Given the description of an element on the screen output the (x, y) to click on. 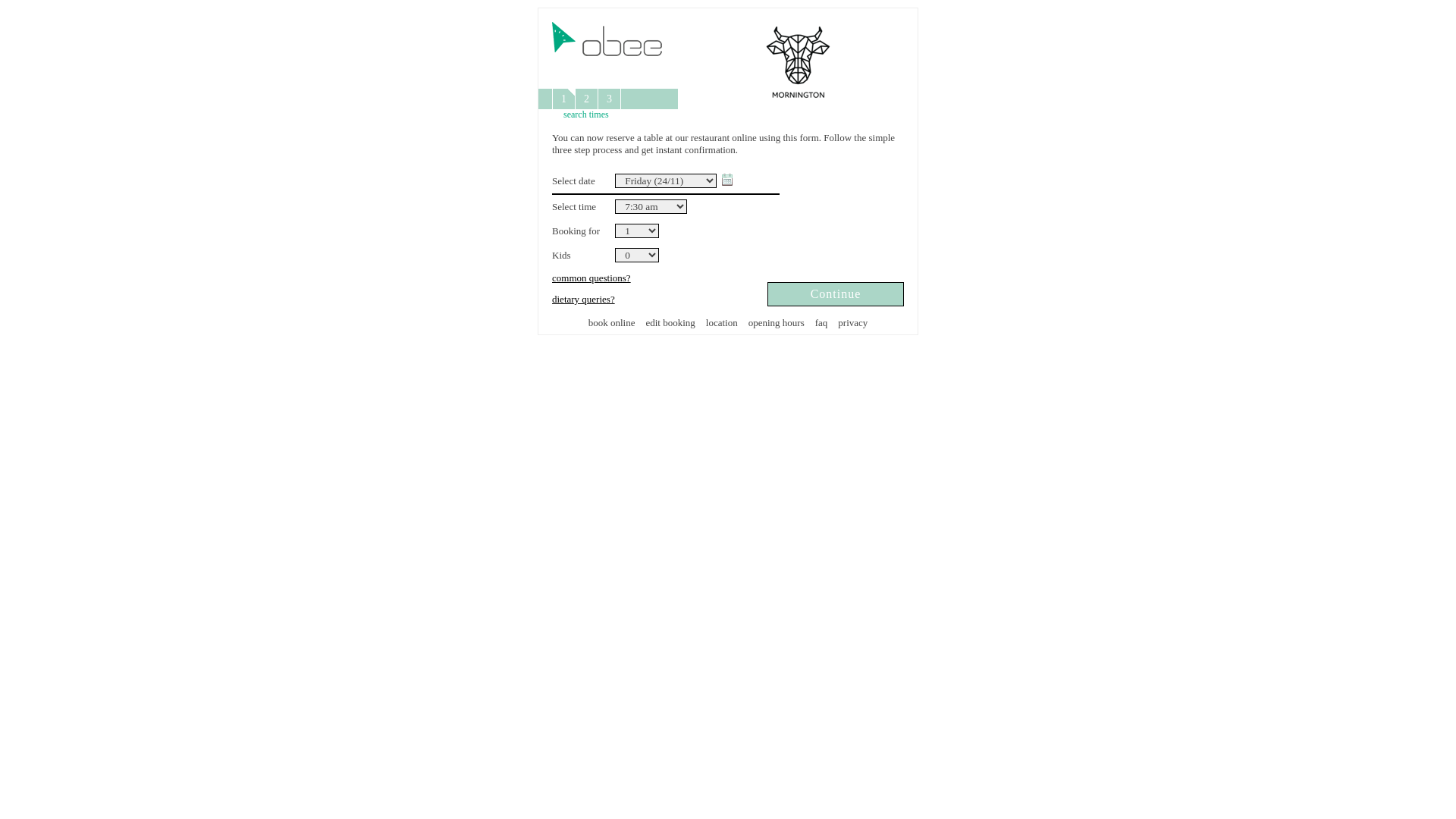
opening hours Element type: text (776, 322)
common questions? Element type: text (591, 277)
book online Element type: text (611, 322)
... Element type: hover (726, 179)
location Element type: text (721, 322)
faq Element type: text (821, 322)
dietary queries? Element type: text (583, 298)
privacy Element type: text (852, 322)
Continue Element type: text (835, 294)
edit booking Element type: text (669, 322)
